Given the description of an element on the screen output the (x, y) to click on. 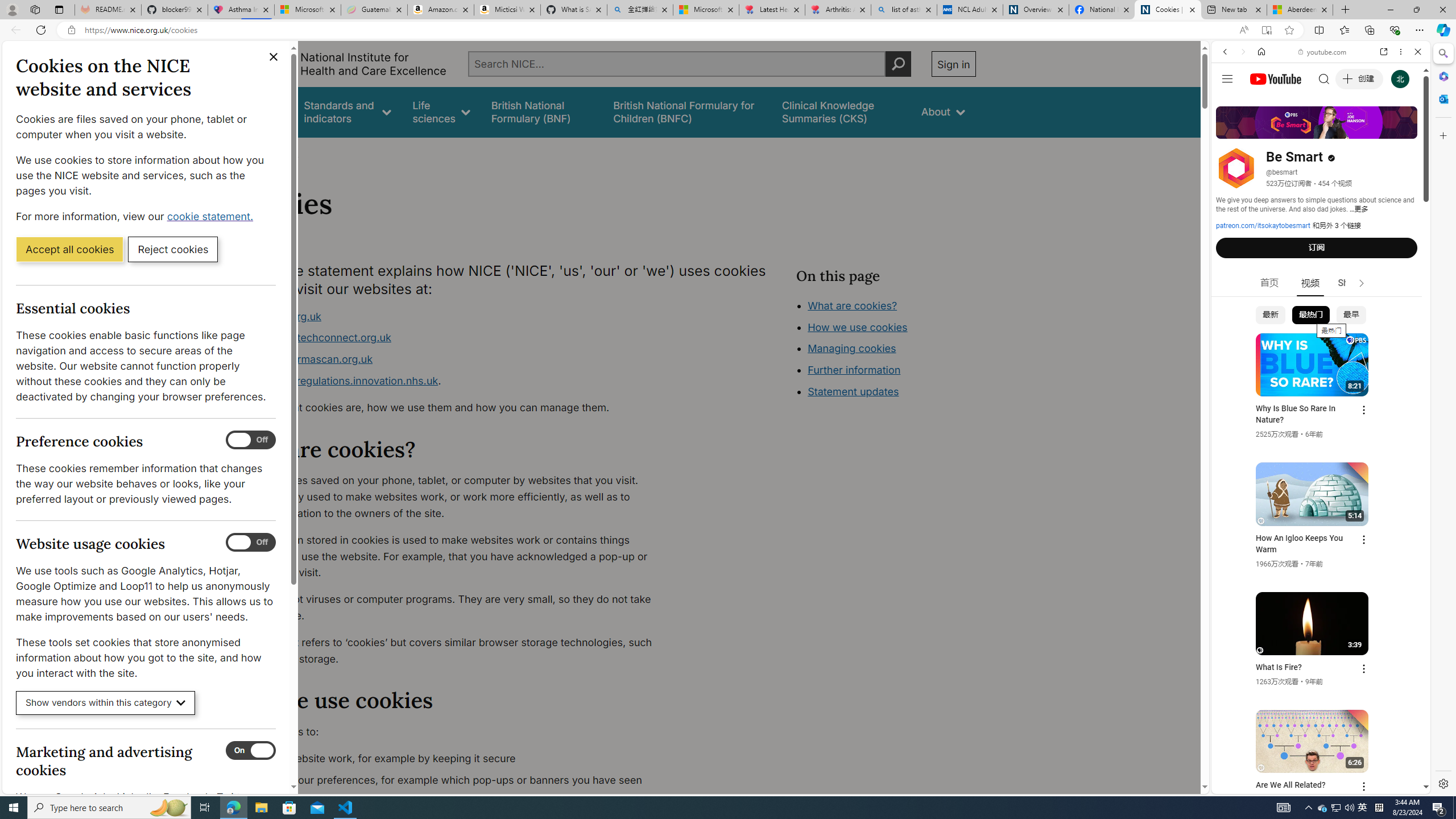
What are cookies? (852, 305)
Music (1320, 309)
www.digitalregulations.innovation.nhs.uk (338, 380)
AutomationID: right (1361, 283)
Google (1320, 281)
Class: dict_pnIcon rms_img (1312, 784)
Click to scroll right (1407, 456)
